Given the description of an element on the screen output the (x, y) to click on. 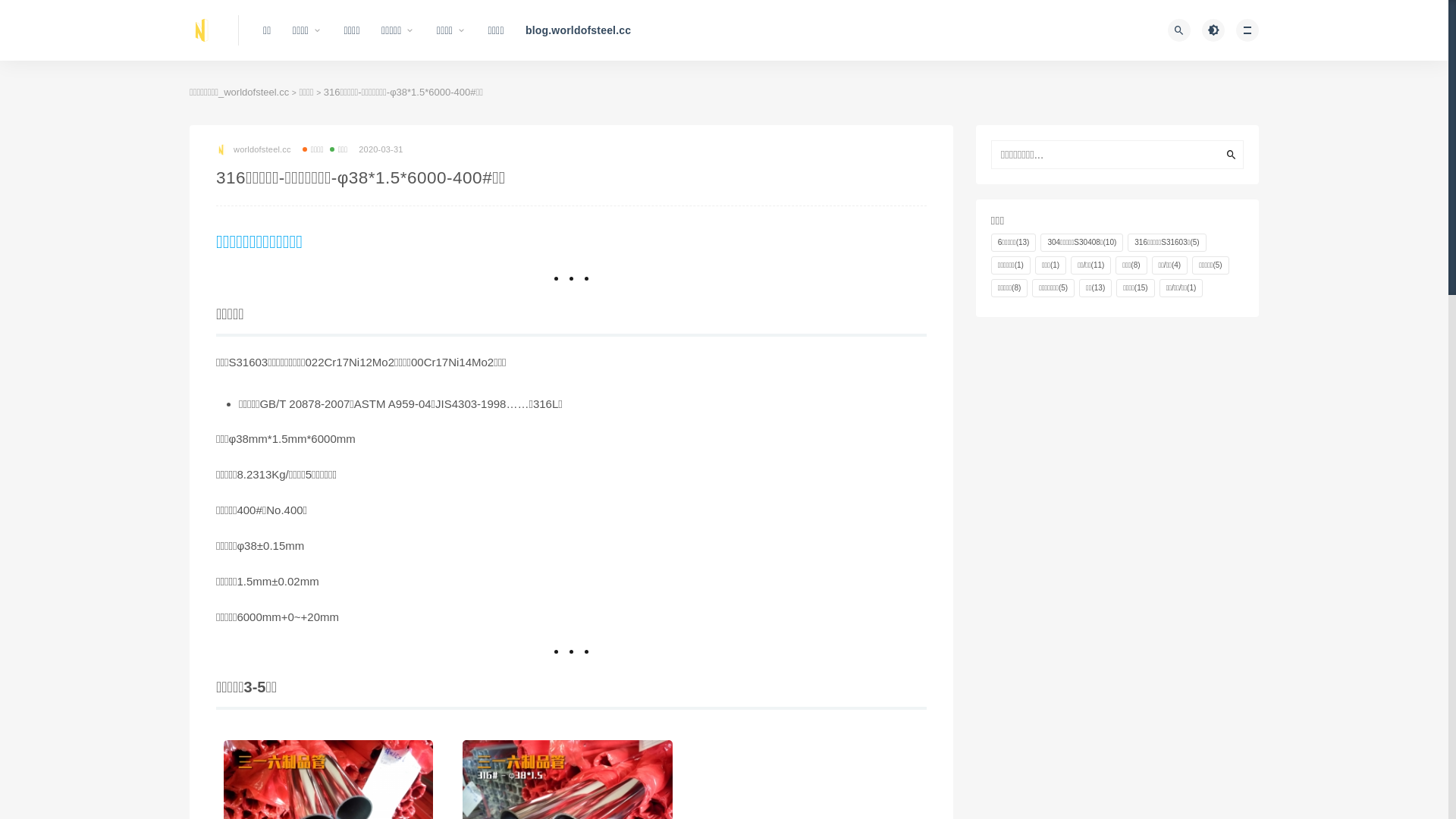
blog.worldofsteel.cc Element type: text (577, 30)
2020-03-31 Element type: text (380, 148)
worldofsteel.cc Element type: text (253, 149)
